Given the description of an element on the screen output the (x, y) to click on. 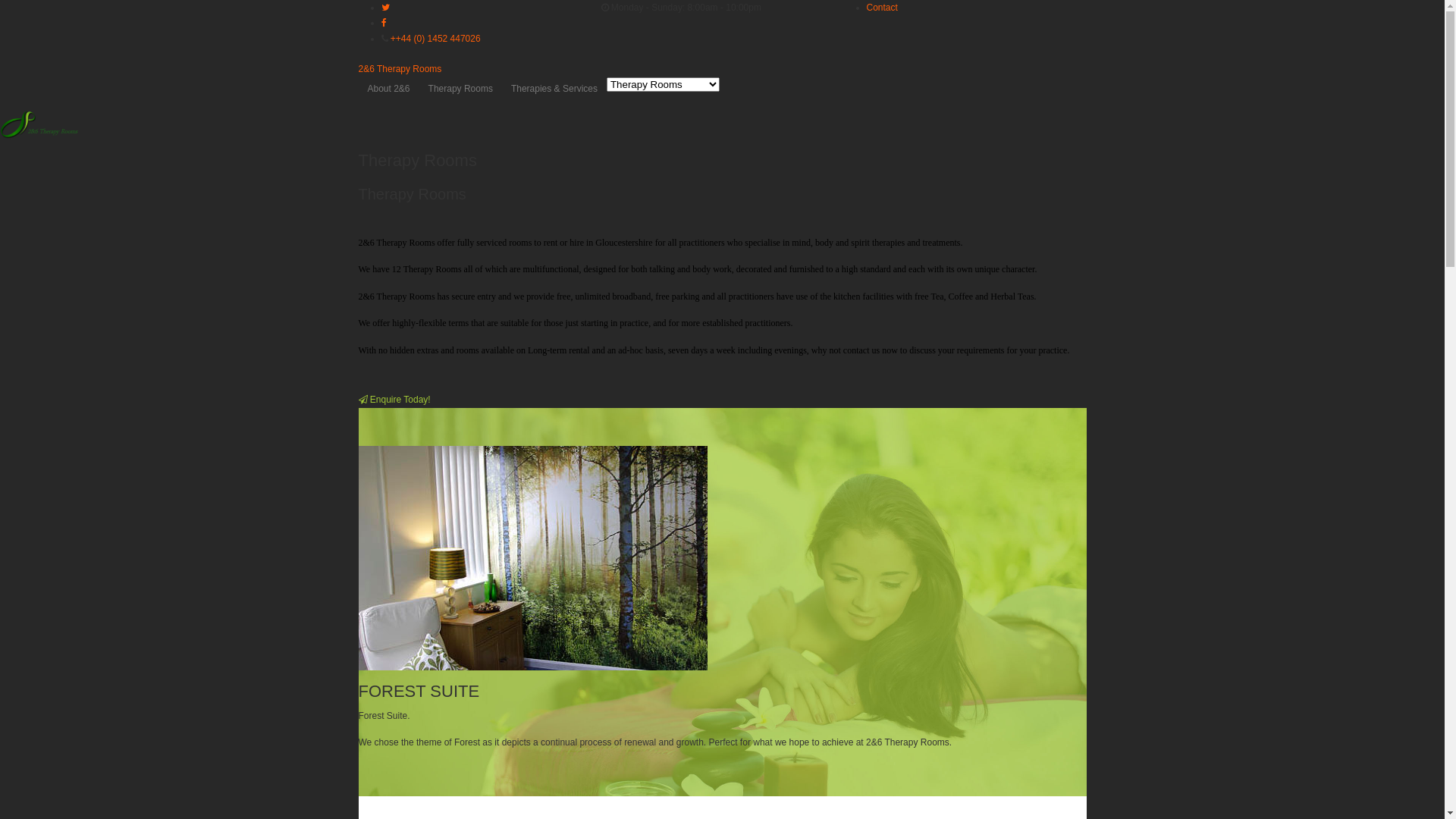
2&6 Therapy Rooms Element type: text (399, 68)
2&6 Therapy Rooms Element type: hover (39, 136)
Therapy Rooms Element type: text (460, 88)
Enquire Today! Element type: text (393, 399)
Therapies & Services Element type: text (554, 88)
Contact Element type: text (881, 7)
Twitter Element type: hover (384, 7)
About 2&6 Element type: text (387, 88)
++44 (0) 1452 447026 Element type: text (435, 38)
Facebook Element type: hover (382, 22)
